Given the description of an element on the screen output the (x, y) to click on. 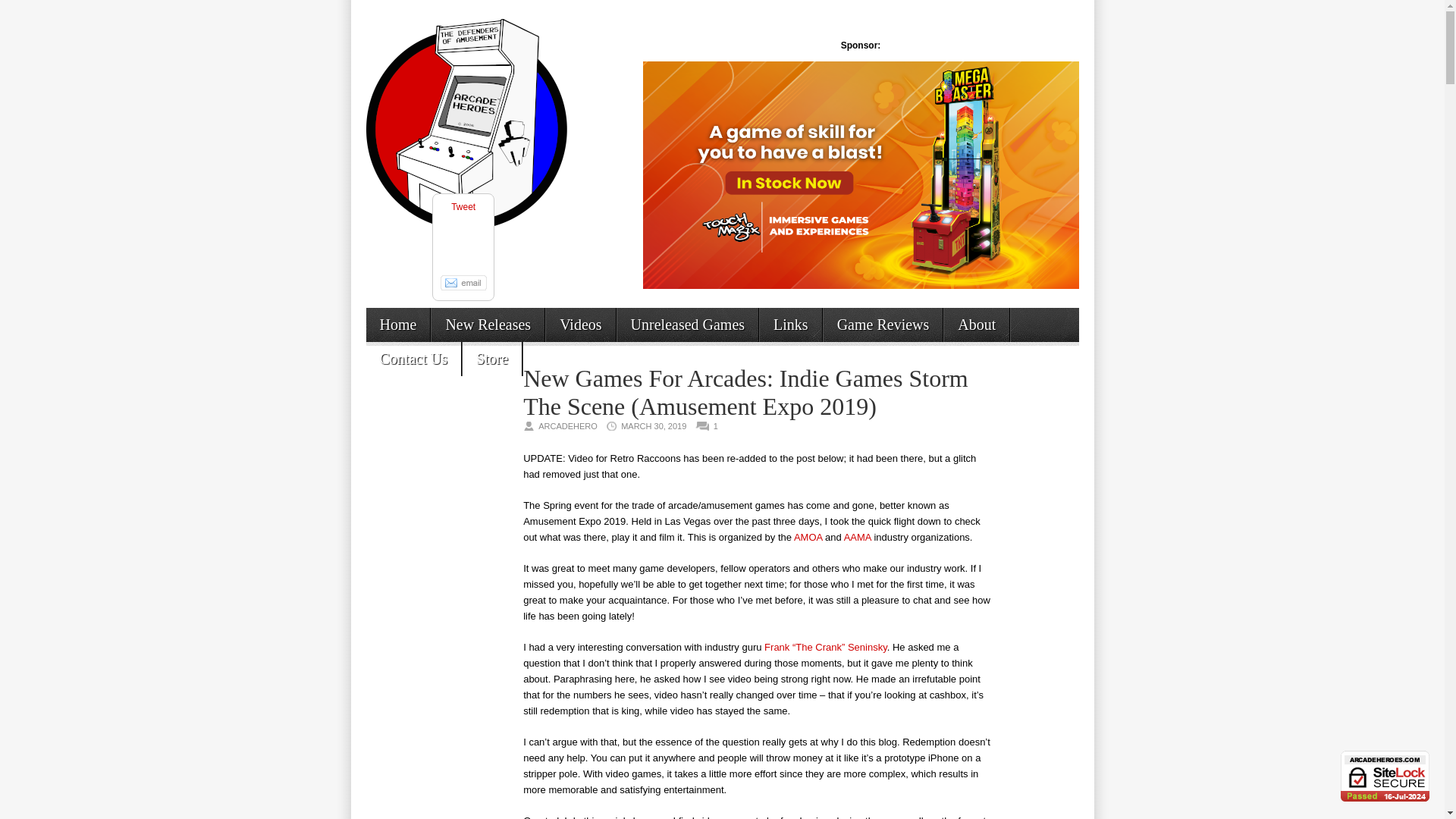
Links (791, 324)
Contact Us (412, 358)
Tweet (463, 206)
Videos (580, 324)
Unreleased Games (687, 324)
AMOA (807, 536)
AAMA (857, 536)
Home (397, 324)
Store (492, 358)
Game Reviews (883, 324)
Home (397, 324)
New Releases (487, 324)
About (976, 324)
